Given the description of an element on the screen output the (x, y) to click on. 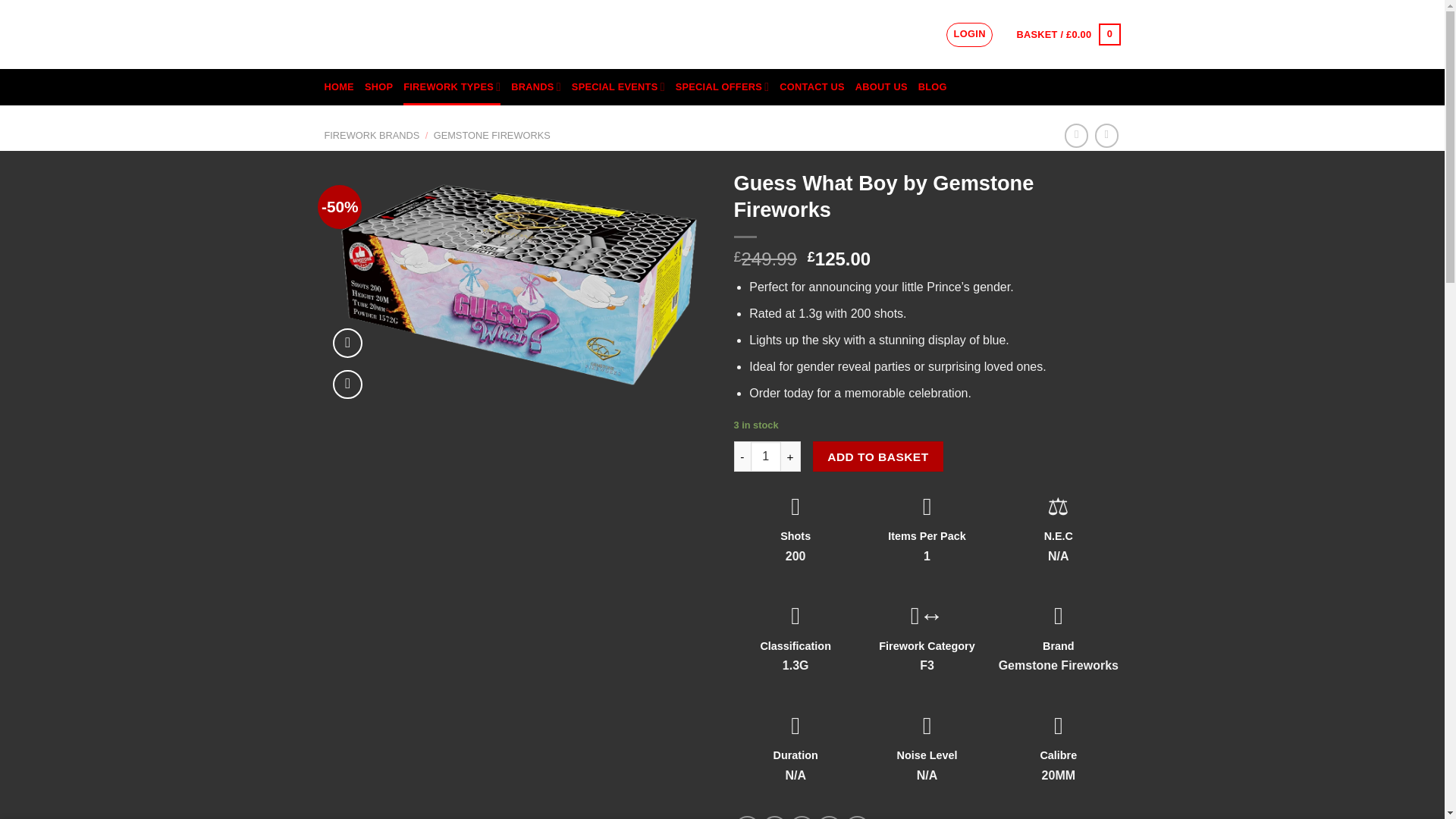
1 (765, 456)
Guess What Boy by Gemstone Fireworks 3 (517, 282)
BRANDS (535, 86)
Login (968, 34)
SPECIAL EVENTS (618, 86)
Share on Facebook (747, 817)
Basket (1067, 34)
Video (347, 342)
FIREWORK TYPES (451, 86)
LOGIN (968, 34)
Zoom (347, 384)
Search (917, 34)
